Given the description of an element on the screen output the (x, y) to click on. 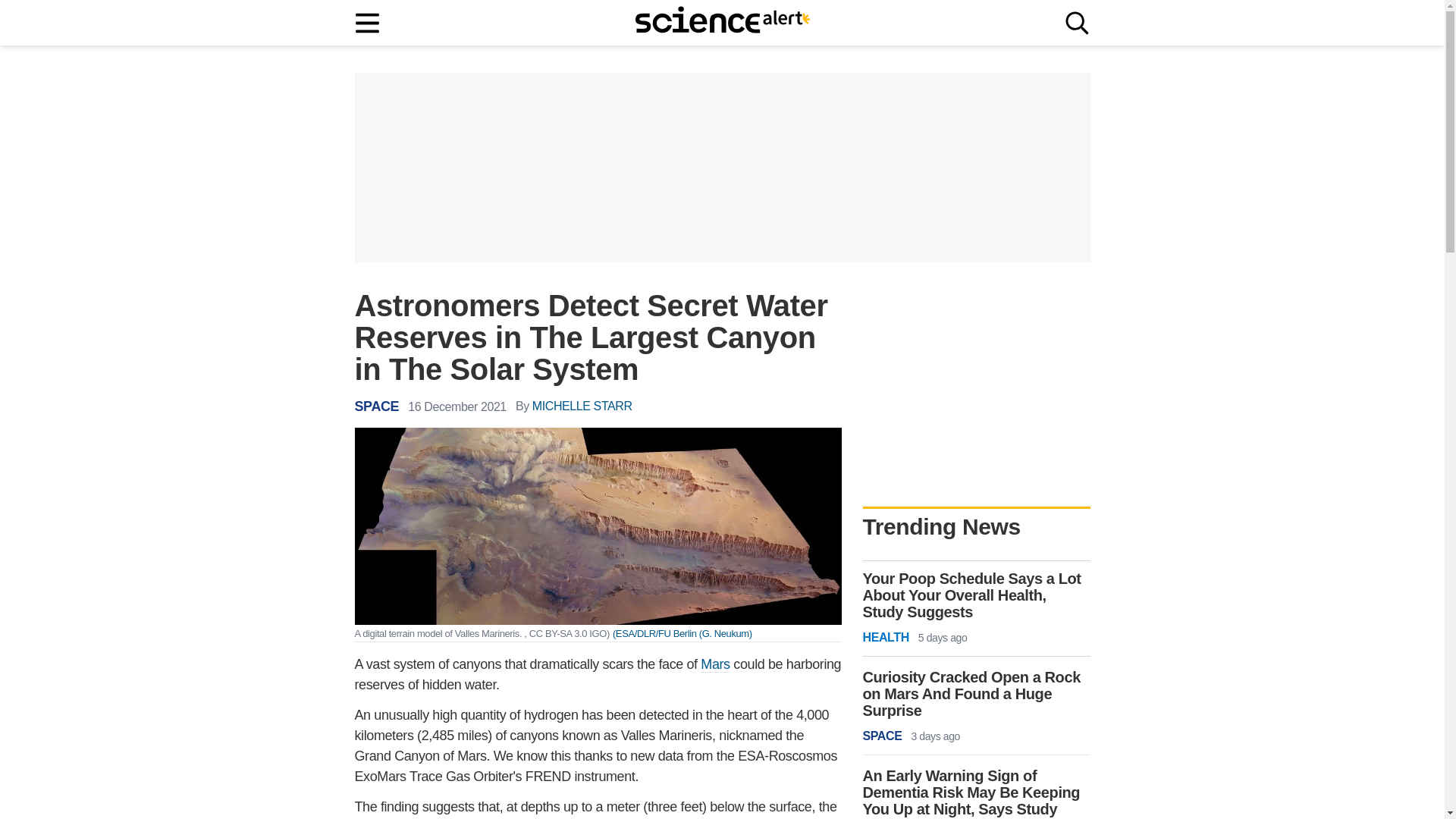
SPACE (376, 406)
Mars (714, 664)
MICHELLE STARR (581, 405)
